Given the description of an element on the screen output the (x, y) to click on. 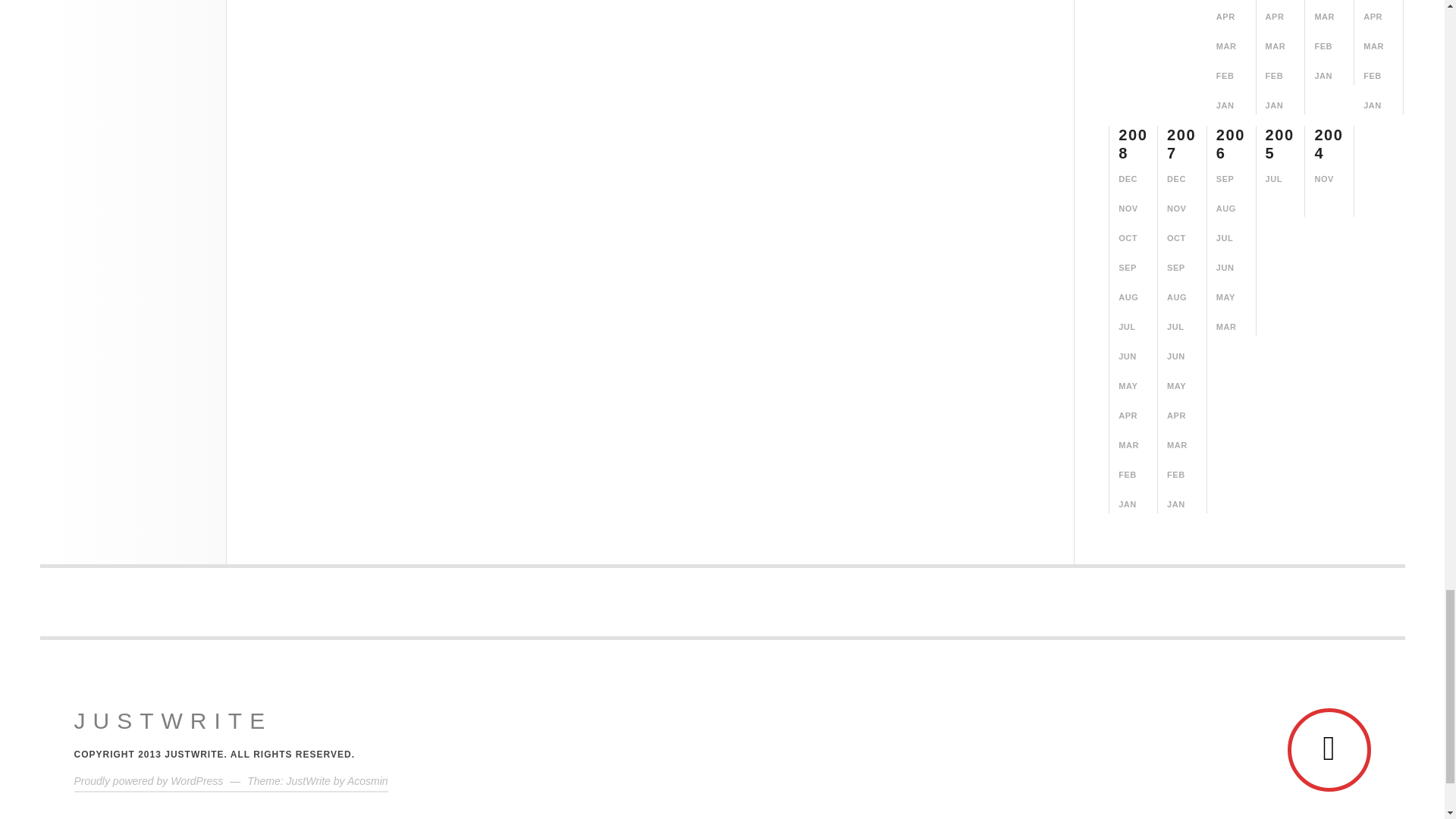
The Angry Black Woman (173, 720)
Acosmin (367, 780)
